Given the description of an element on the screen output the (x, y) to click on. 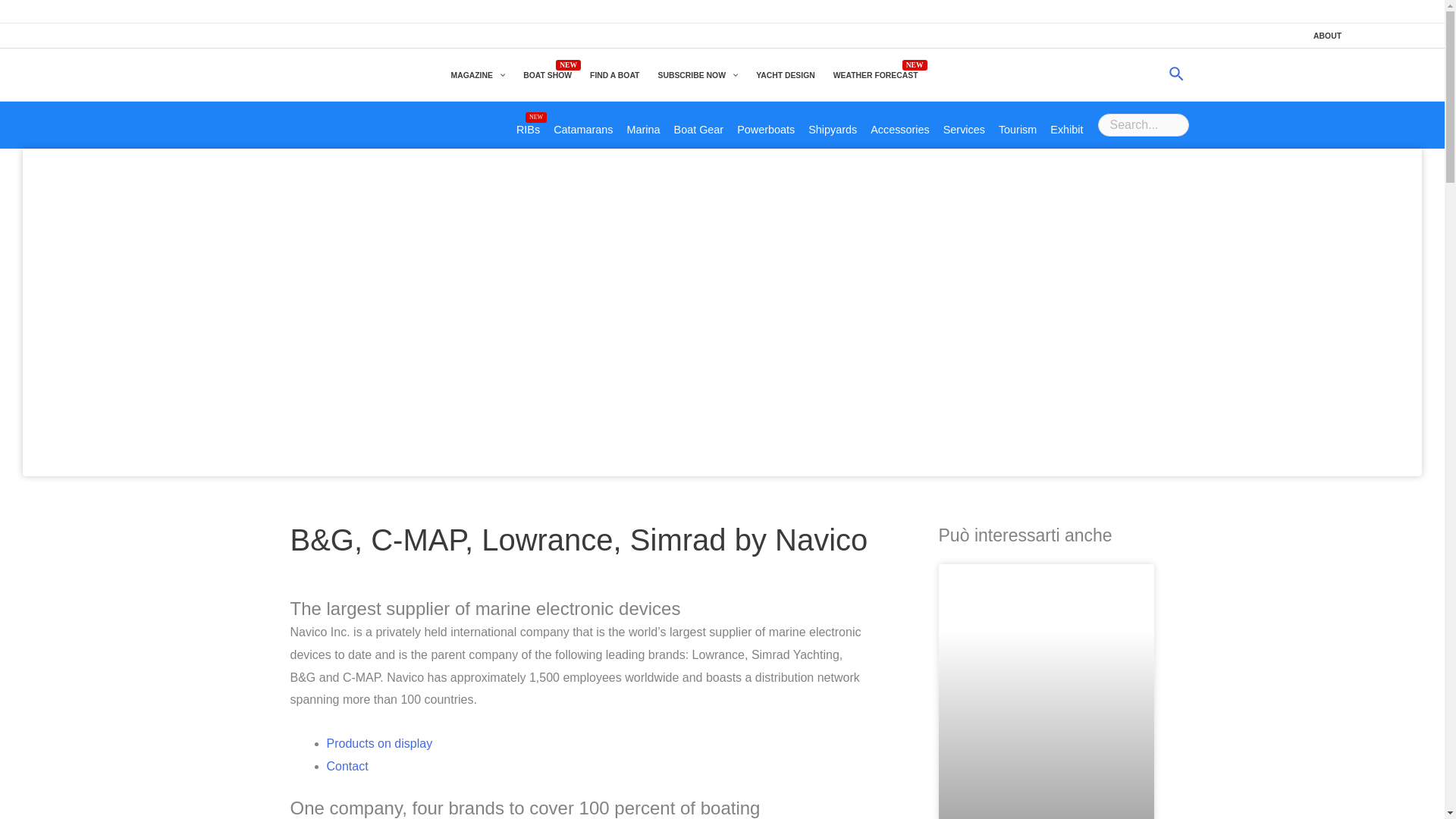
BOAT SHOW (546, 74)
WEATHER FORECAST (875, 74)
SUBSCRIBE NOW (696, 74)
ABOUT (1327, 36)
FIND A BOAT (613, 74)
MAGAZINE (477, 74)
YACHT DESIGN (785, 74)
